Given the description of an element on the screen output the (x, y) to click on. 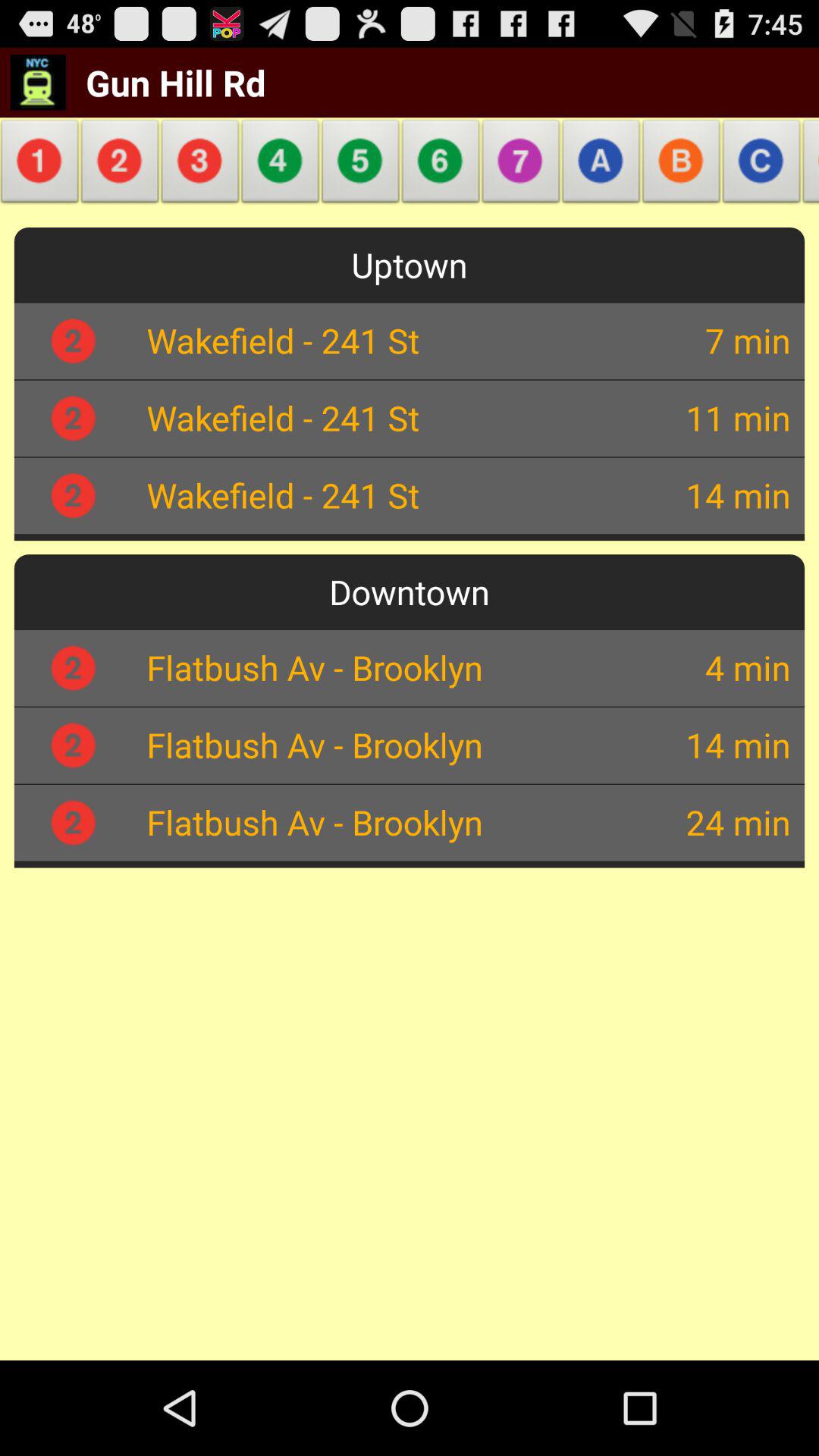
tap item above uptown (761, 165)
